Given the description of an element on the screen output the (x, y) to click on. 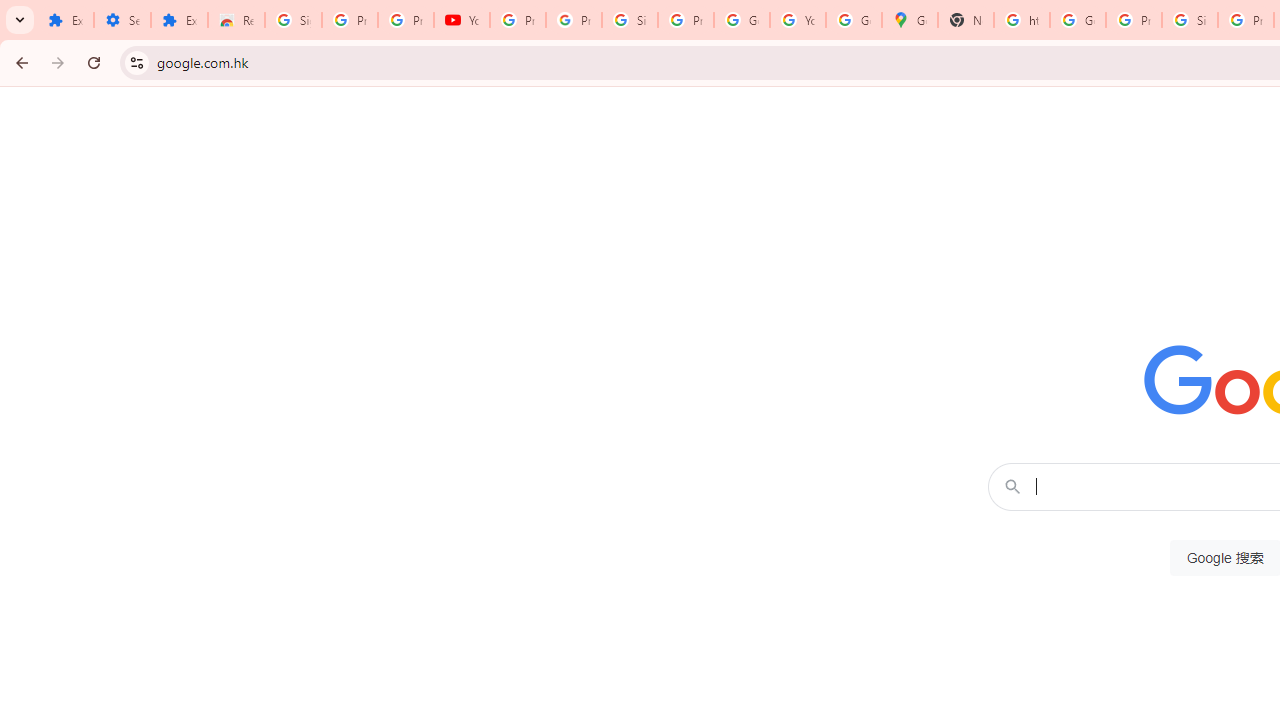
Sign in - Google Accounts (629, 20)
Reviews: Helix Fruit Jump Arcade Game (235, 20)
https://scholar.google.com/ (1021, 20)
YouTube (461, 20)
